Given the description of an element on the screen output the (x, y) to click on. 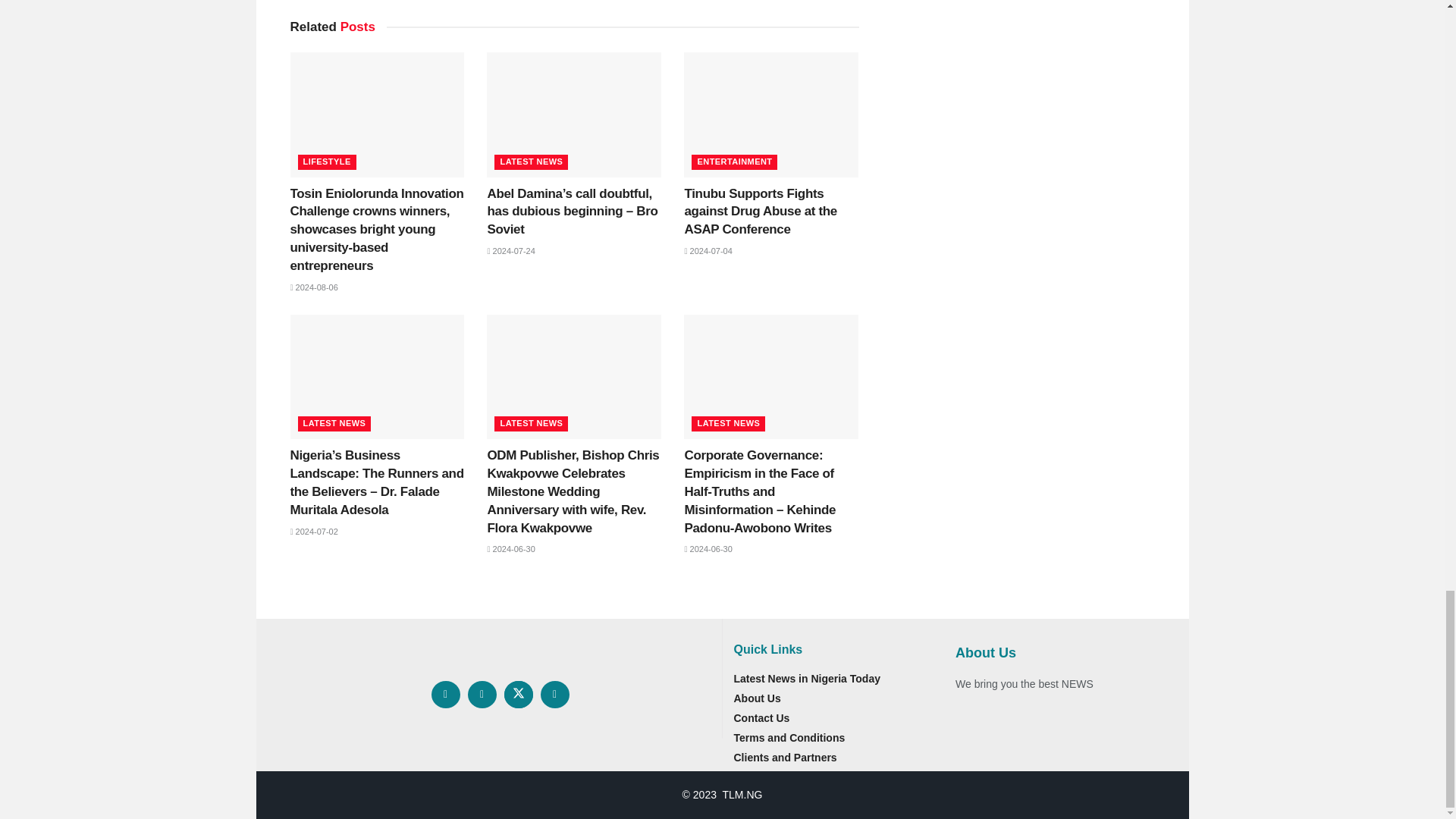
2024-08-06 (313, 286)
ENTERTAINMENT (734, 161)
LATEST NEWS (531, 161)
2024-07-24 (510, 250)
LIFESTYLE (326, 161)
